Given the description of an element on the screen output the (x, y) to click on. 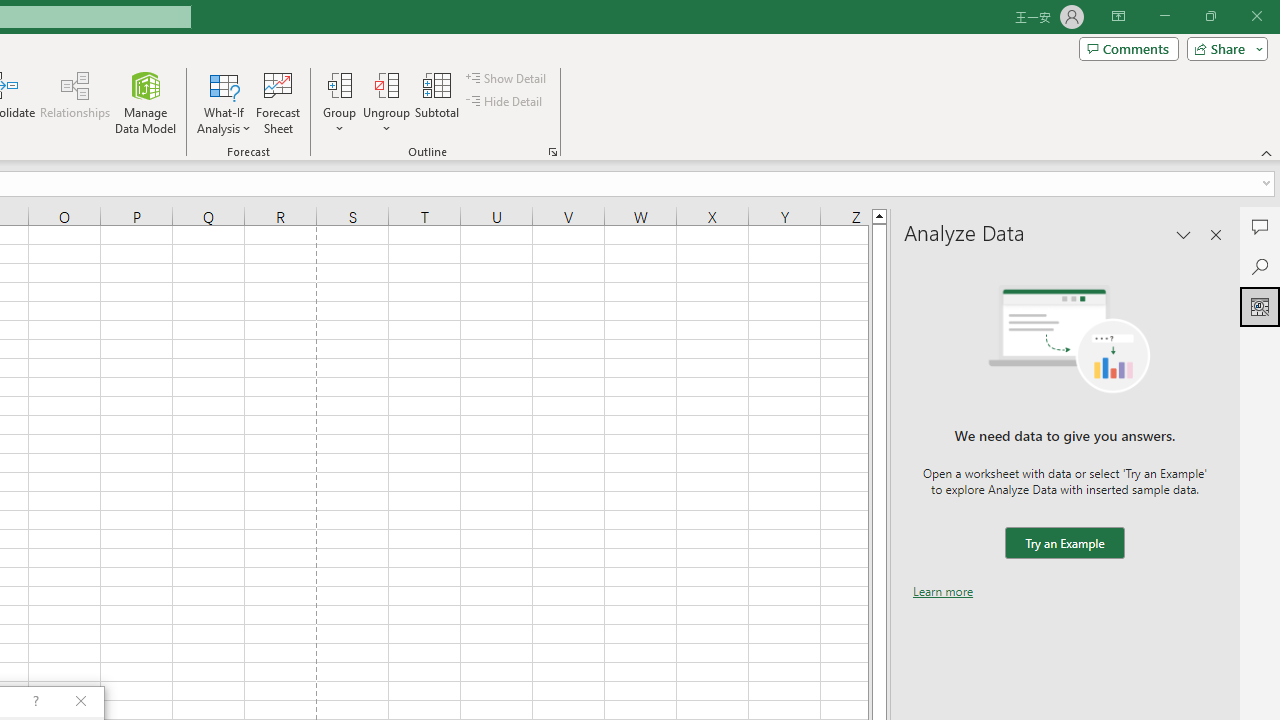
Analyze Data (1260, 306)
Search (1260, 266)
Hide Detail (505, 101)
Manage Data Model (145, 102)
Group and Outline Settings (552, 151)
Subtotal (437, 102)
Learn more (943, 591)
